Given the description of an element on the screen output the (x, y) to click on. 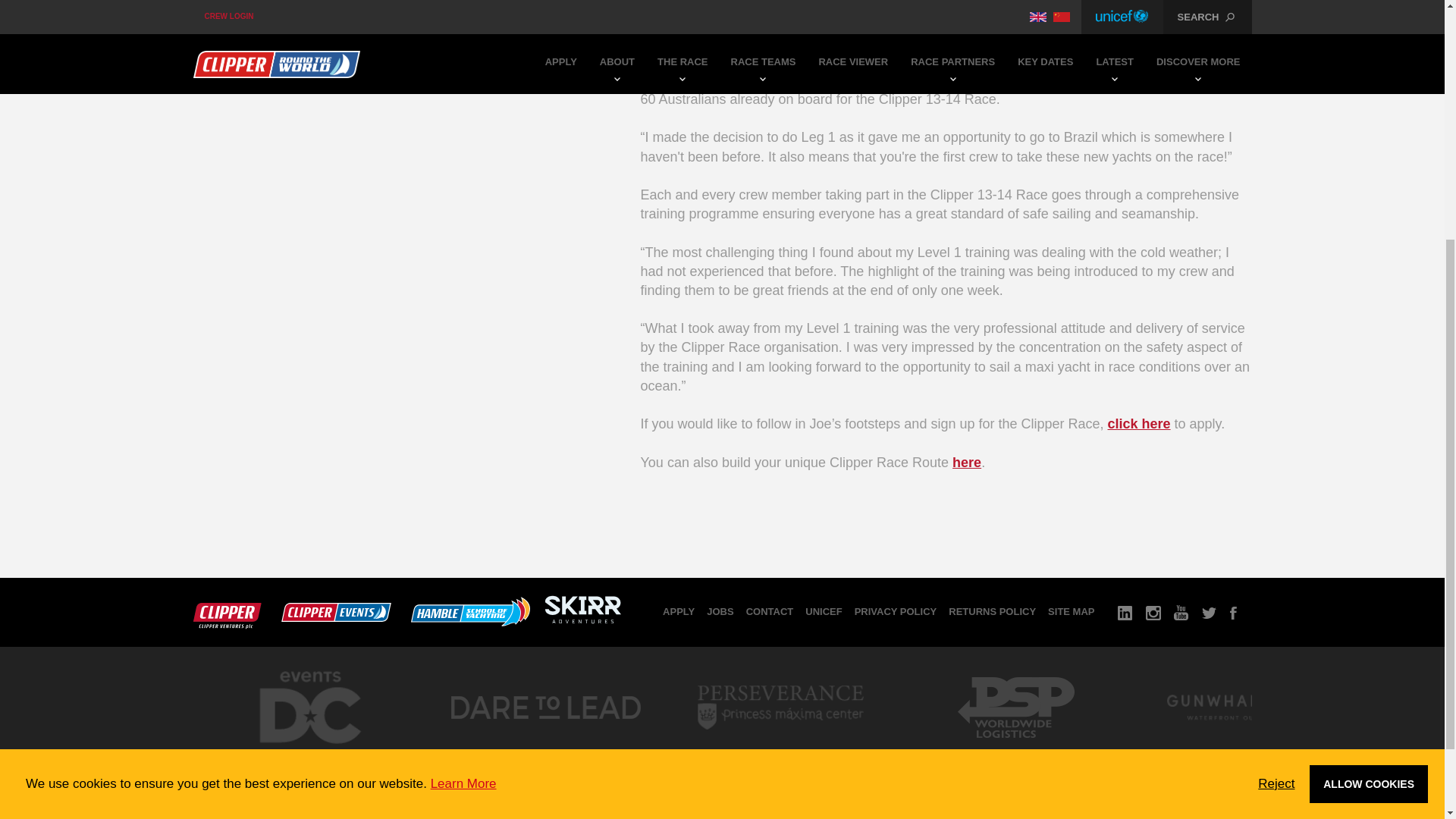
Dare To Lead (544, 751)
Events DC (309, 757)
PSP Logistics (1014, 751)
Perseverance (780, 751)
Gunwharf Quays (1250, 751)
